Given the description of an element on the screen output the (x, y) to click on. 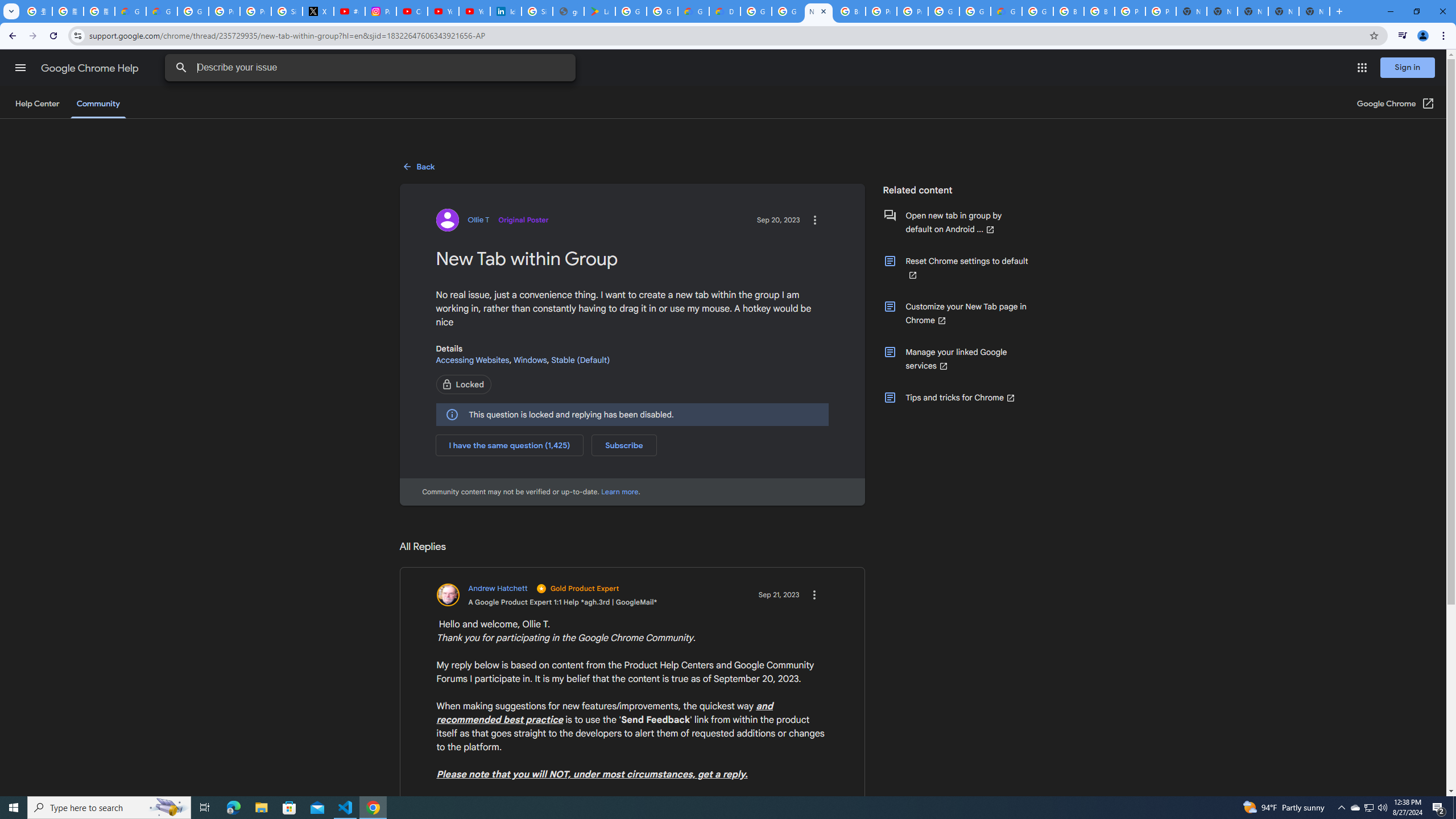
View profile for Andrew Hatchett (547, 594)
Action items for the question (814, 219)
Action items for the question (814, 219)
Privacy Help Center - Policies Help (223, 11)
New Tab (1314, 11)
